Given the description of an element on the screen output the (x, y) to click on. 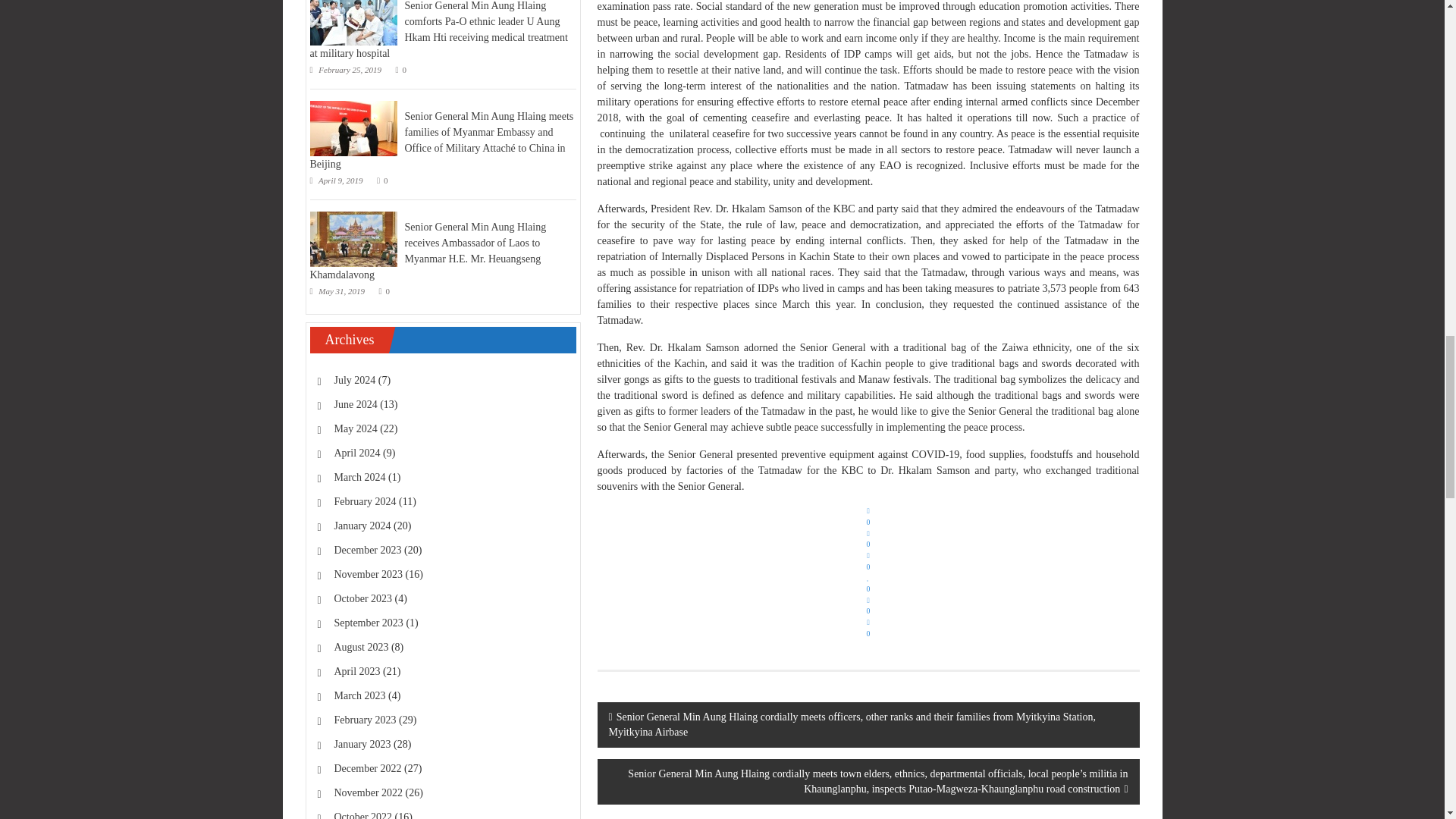
0 (868, 566)
0 (868, 588)
0 (868, 521)
0 (868, 611)
0 (868, 544)
0 (868, 628)
